Given the description of an element on the screen output the (x, y) to click on. 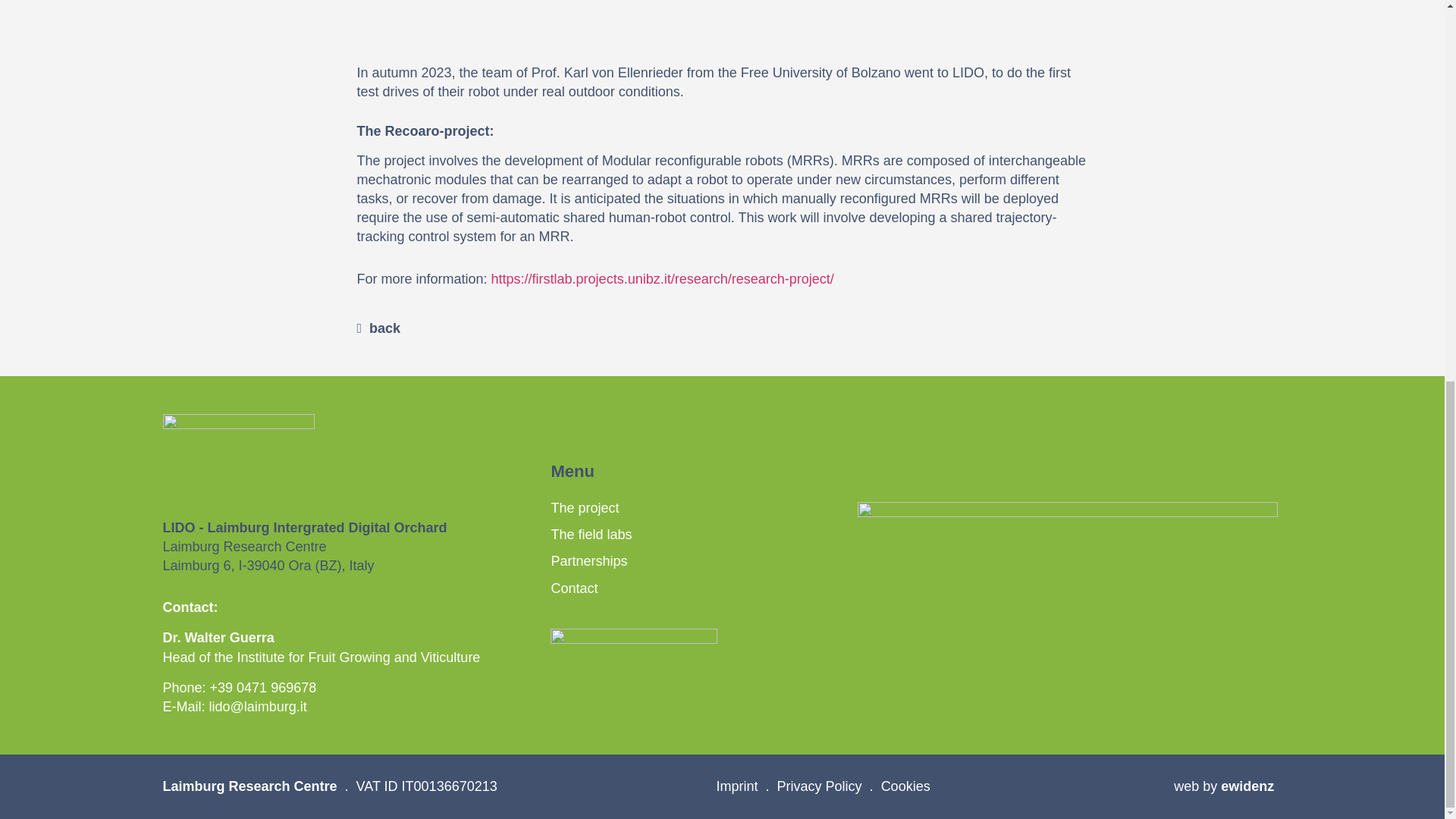
Partnerships (588, 560)
The project (584, 507)
Imprint (737, 785)
ewidenz (1247, 785)
The field labs (590, 534)
Contact (573, 588)
Cookies (905, 785)
Privacy Policy (819, 785)
back (378, 328)
